Given the description of an element on the screen output the (x, y) to click on. 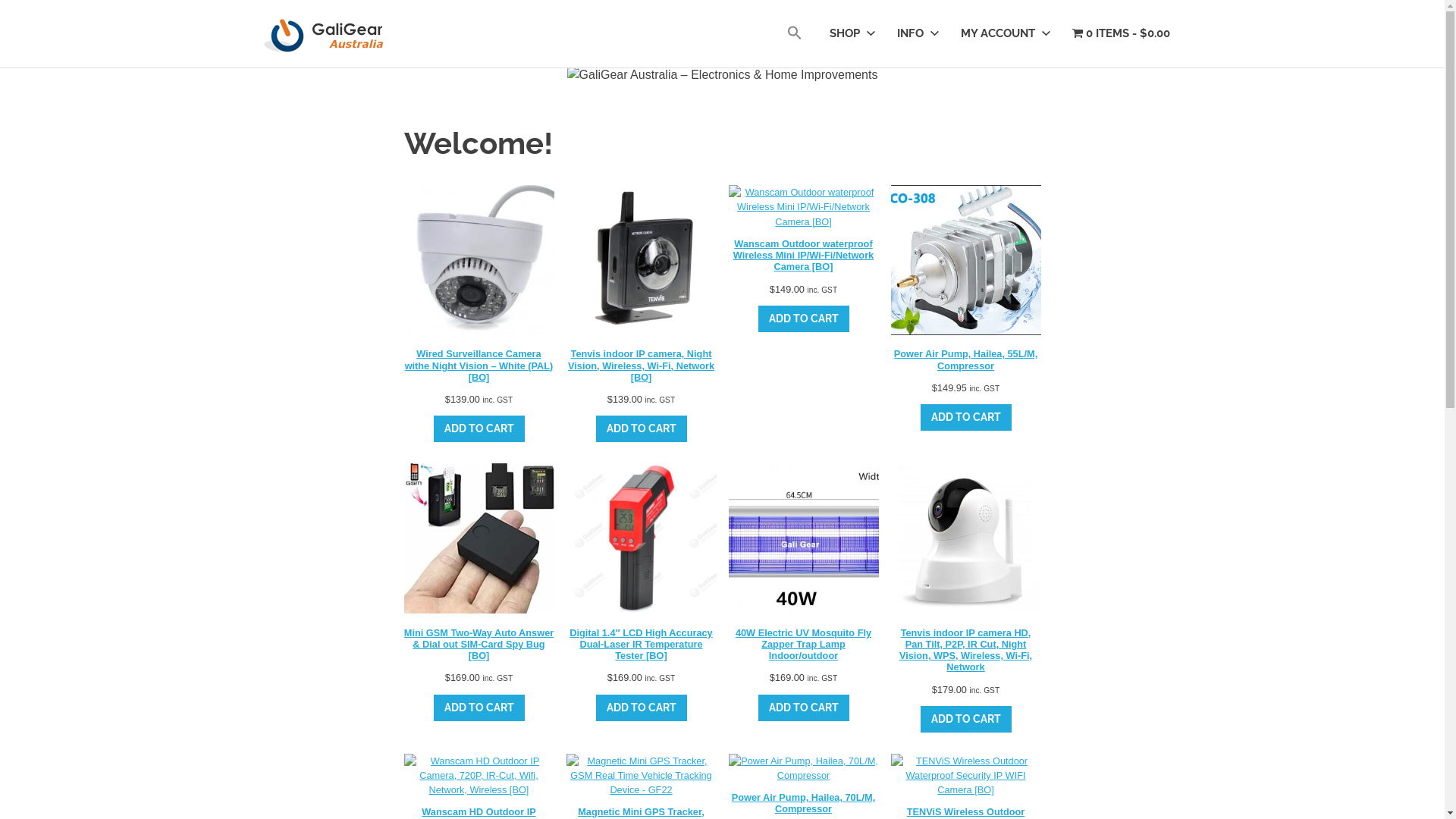
ADD TO CART Element type: text (803, 318)
ADD TO CART Element type: text (478, 707)
INFO Element type: text (915, 33)
MY ACCOUNT Element type: text (1002, 33)
ADD TO CART Element type: text (641, 707)
ADD TO CART Element type: text (965, 719)
40W Electric UV Mosquito Fly Zapper Trap Lamp Indoor/outdoor Element type: text (803, 562)
ADD TO CART Element type: text (965, 417)
0 ITEMS$0.00 Element type: text (1120, 33)
ADD TO CART Element type: text (641, 428)
ADD TO CART Element type: text (803, 707)
Power Air Pump, Hailea, 70L/M, Compressor Element type: text (803, 784)
ADD TO CART Element type: text (478, 428)
Power Air Pump, Hailea, 55L/M, Compressor Element type: text (965, 278)
SHOP Element type: text (849, 33)
